Given the description of an element on the screen output the (x, y) to click on. 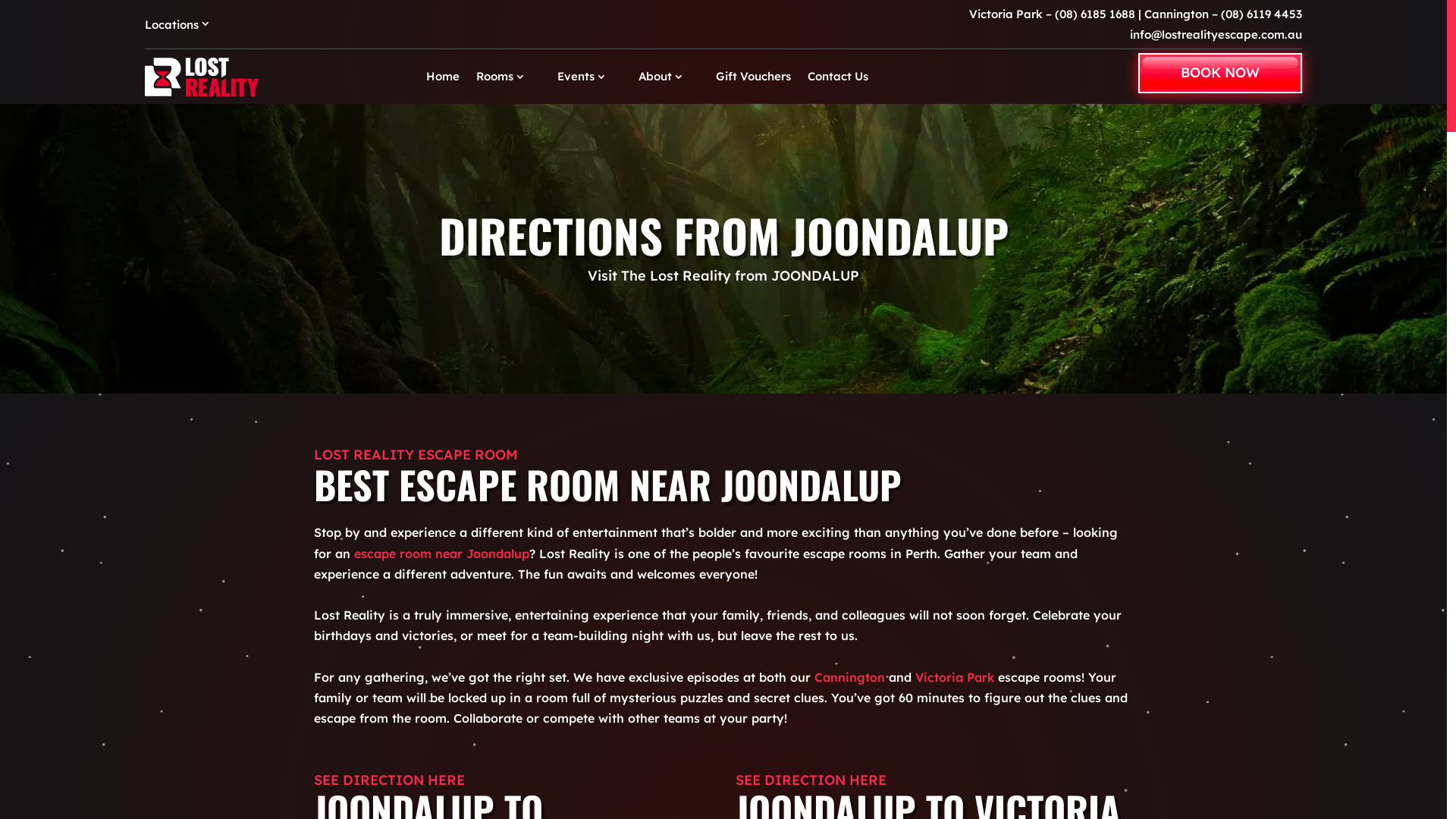
Gift Vouchers Element type: text (752, 76)
Locations Element type: text (184, 27)
Cannington Element type: text (849, 676)
Contact Us Element type: text (837, 76)
escape room near Joondalup Element type: text (441, 553)
Home Element type: text (442, 76)
 info@lostrealityescape.com.au Element type: text (1214, 34)
Victoria Park Element type: text (954, 676)
Rooms Element type: text (508, 76)
About Element type: text (668, 76)
BOOK NOW Element type: text (1220, 73)
Events Element type: text (589, 76)
